Given the description of an element on the screen output the (x, y) to click on. 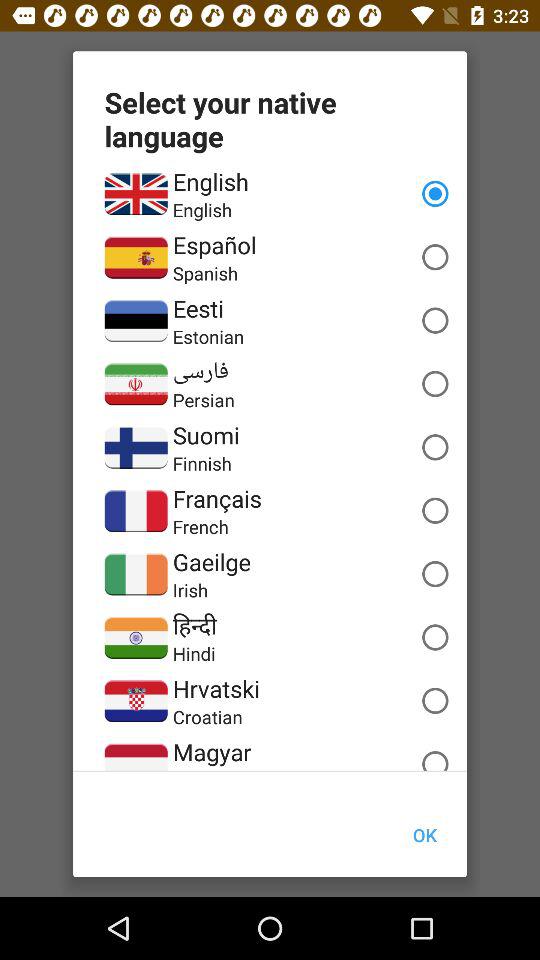
click the magyar app (211, 752)
